Given the description of an element on the screen output the (x, y) to click on. 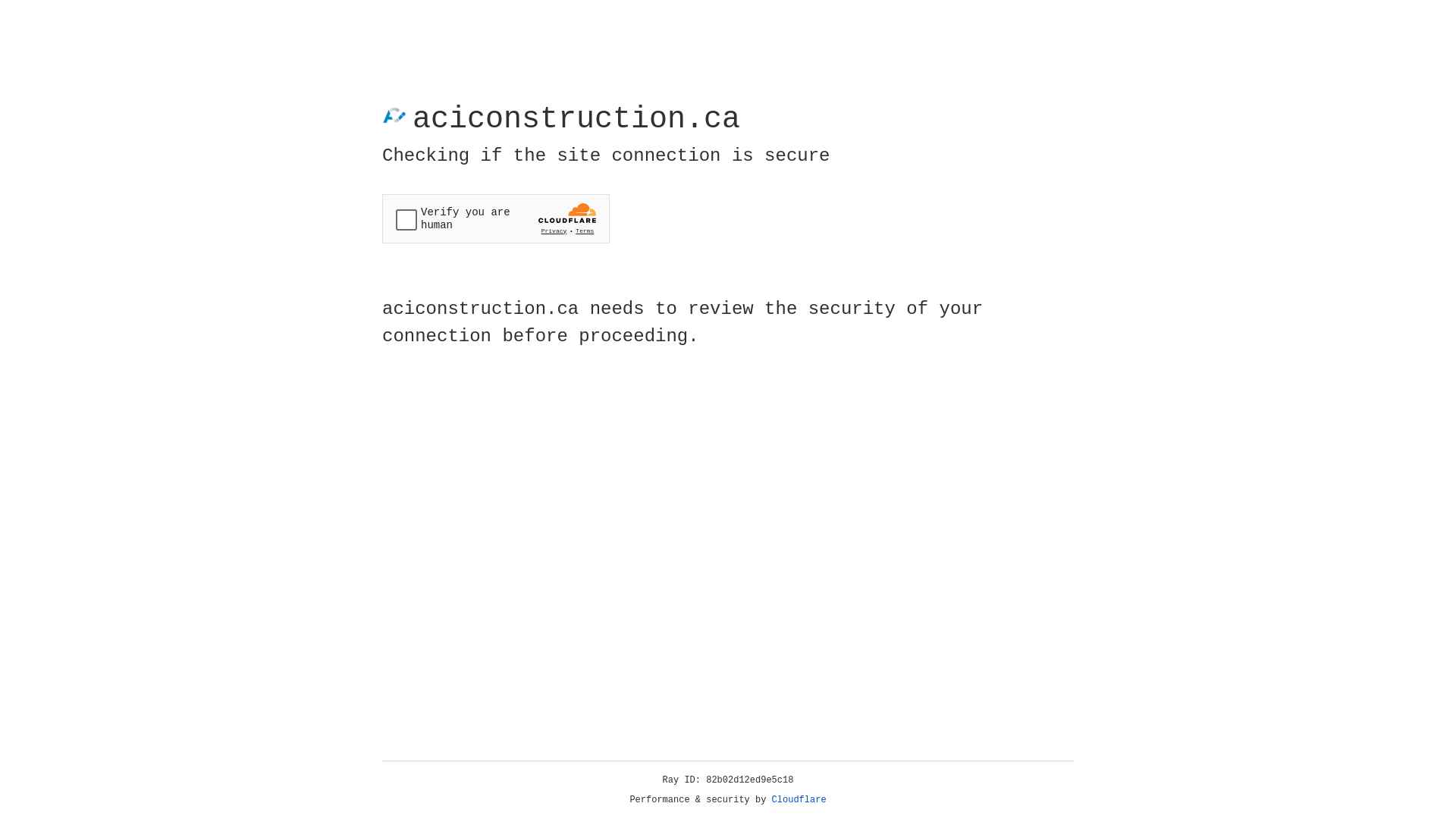
Cloudflare Element type: text (798, 799)
Widget containing a Cloudflare security challenge Element type: hover (495, 218)
